Given the description of an element on the screen output the (x, y) to click on. 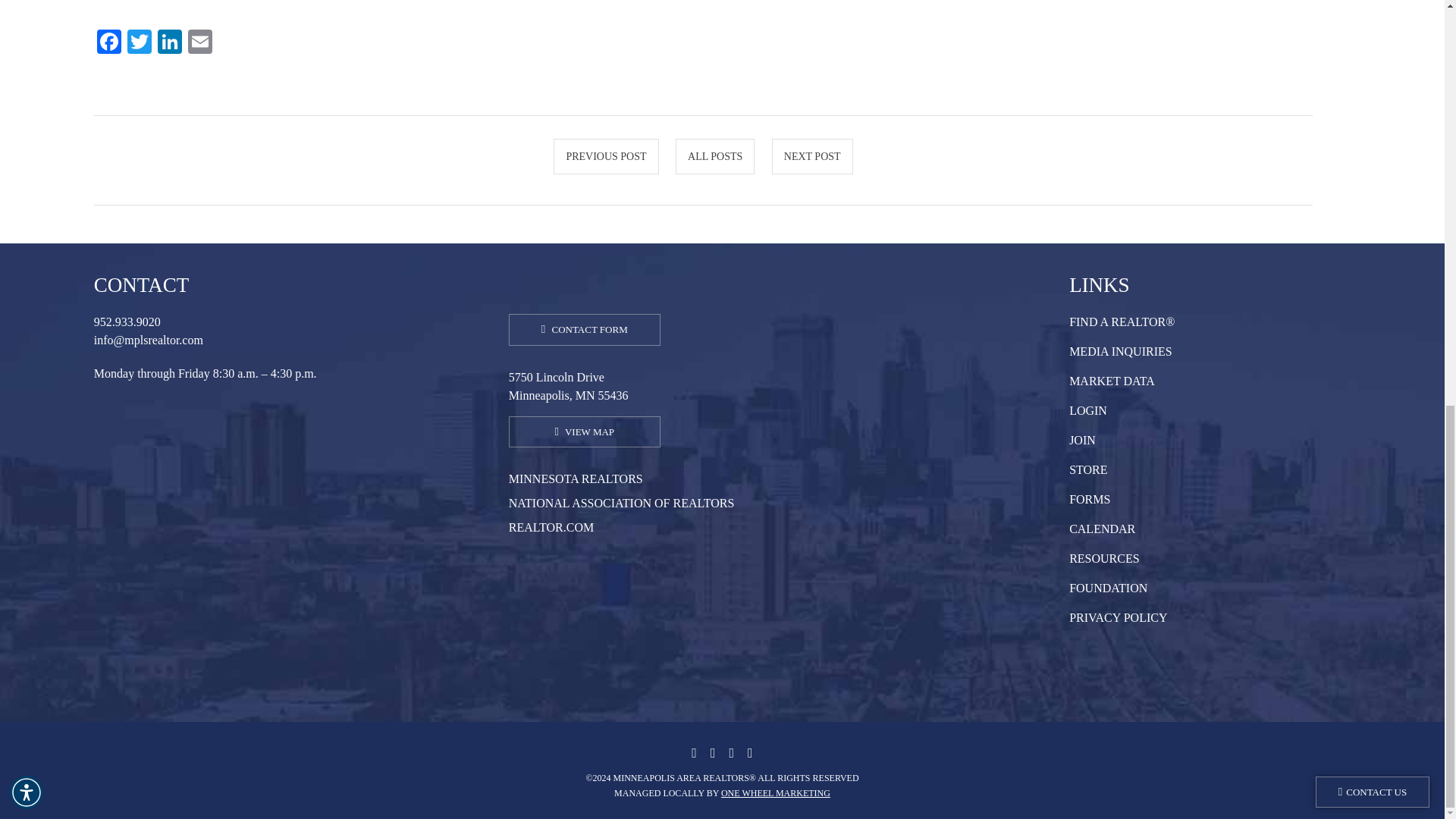
Twitter (138, 43)
Accessibility Menu (26, 2)
LinkedIn (169, 43)
Email (199, 43)
Facebook (108, 43)
